Given the description of an element on the screen output the (x, y) to click on. 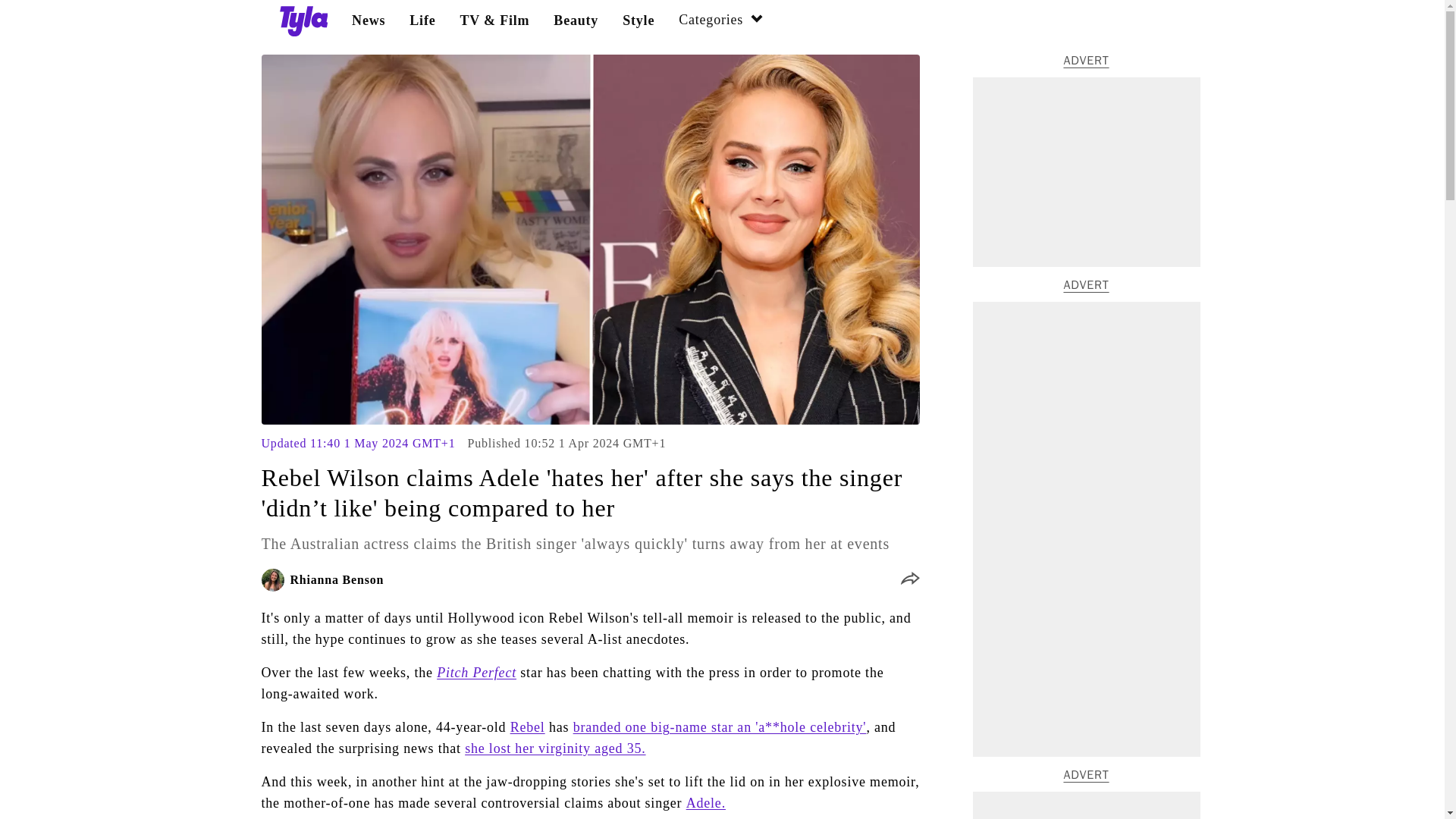
Categories (721, 21)
Beauty (575, 20)
